Given the description of an element on the screen output the (x, y) to click on. 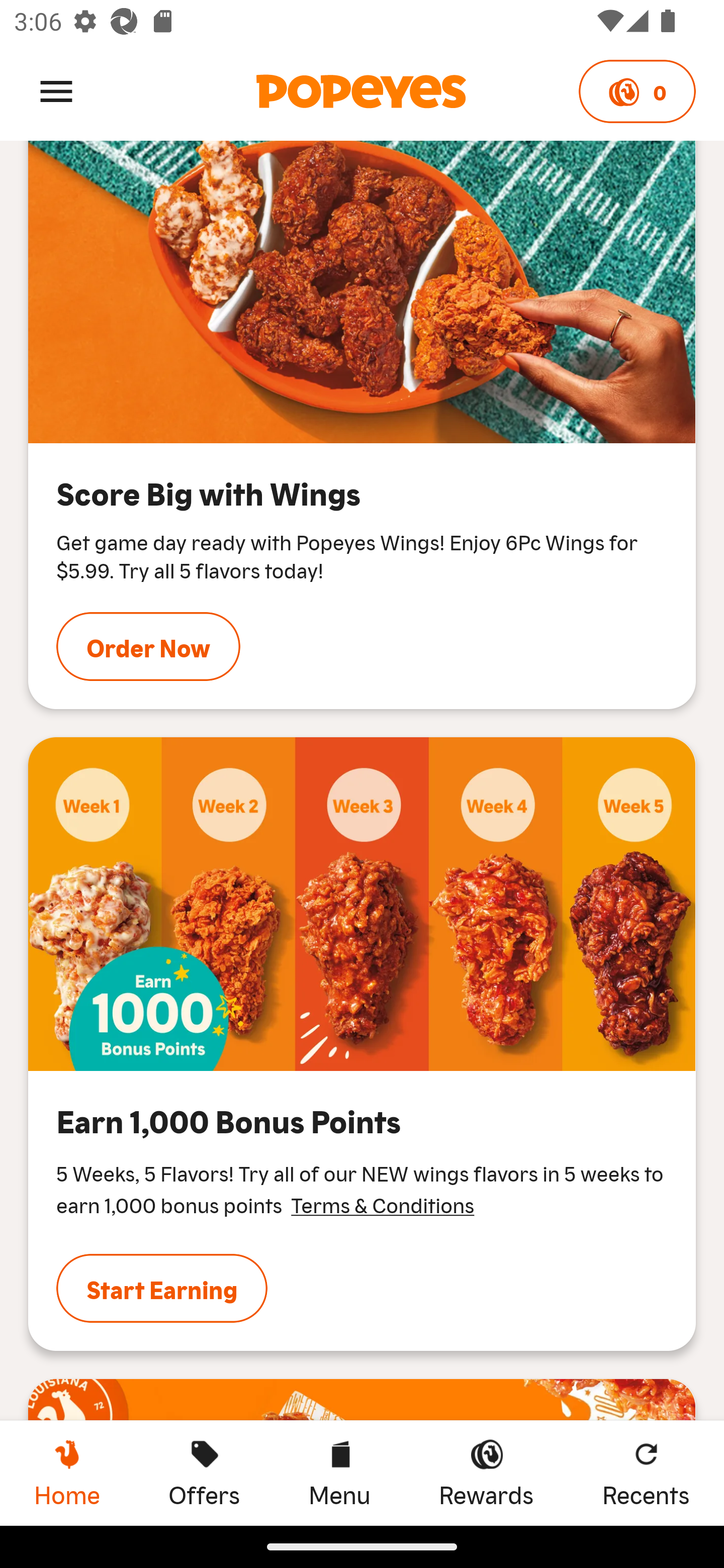
Menu  (56, 90)
0 Points 0 (636, 91)
Score Big with Wings (361, 292)
Order Now (148, 645)
Earn 1,000 Bonus Points (361, 903)
Start Earning (161, 1288)
Home, current page Home Home, current page (66, 1472)
Offers Offers Offers (203, 1472)
Menu Menu Menu (339, 1472)
Rewards Rewards Rewards (486, 1472)
Recents Recents Recents (646, 1472)
